Given the description of an element on the screen output the (x, y) to click on. 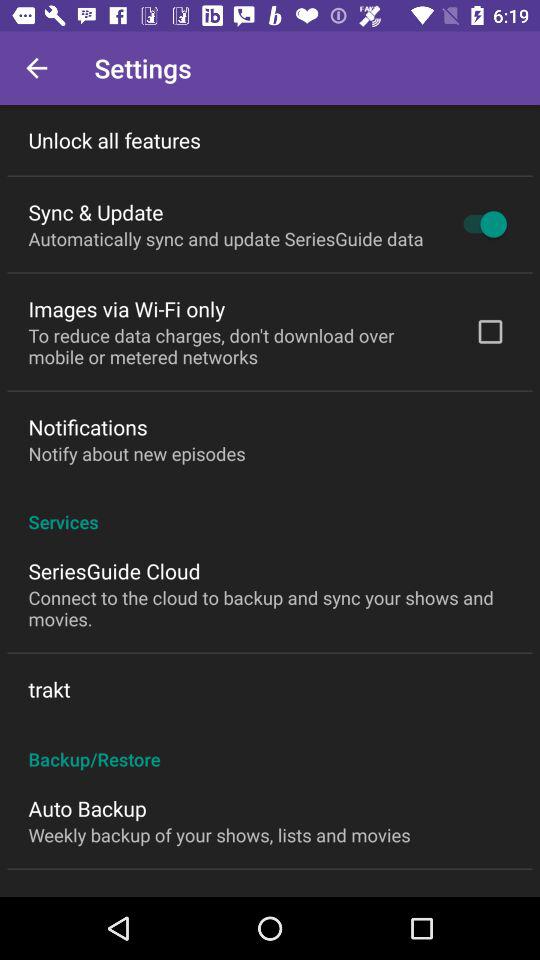
press images via wi (126, 308)
